Given the description of an element on the screen output the (x, y) to click on. 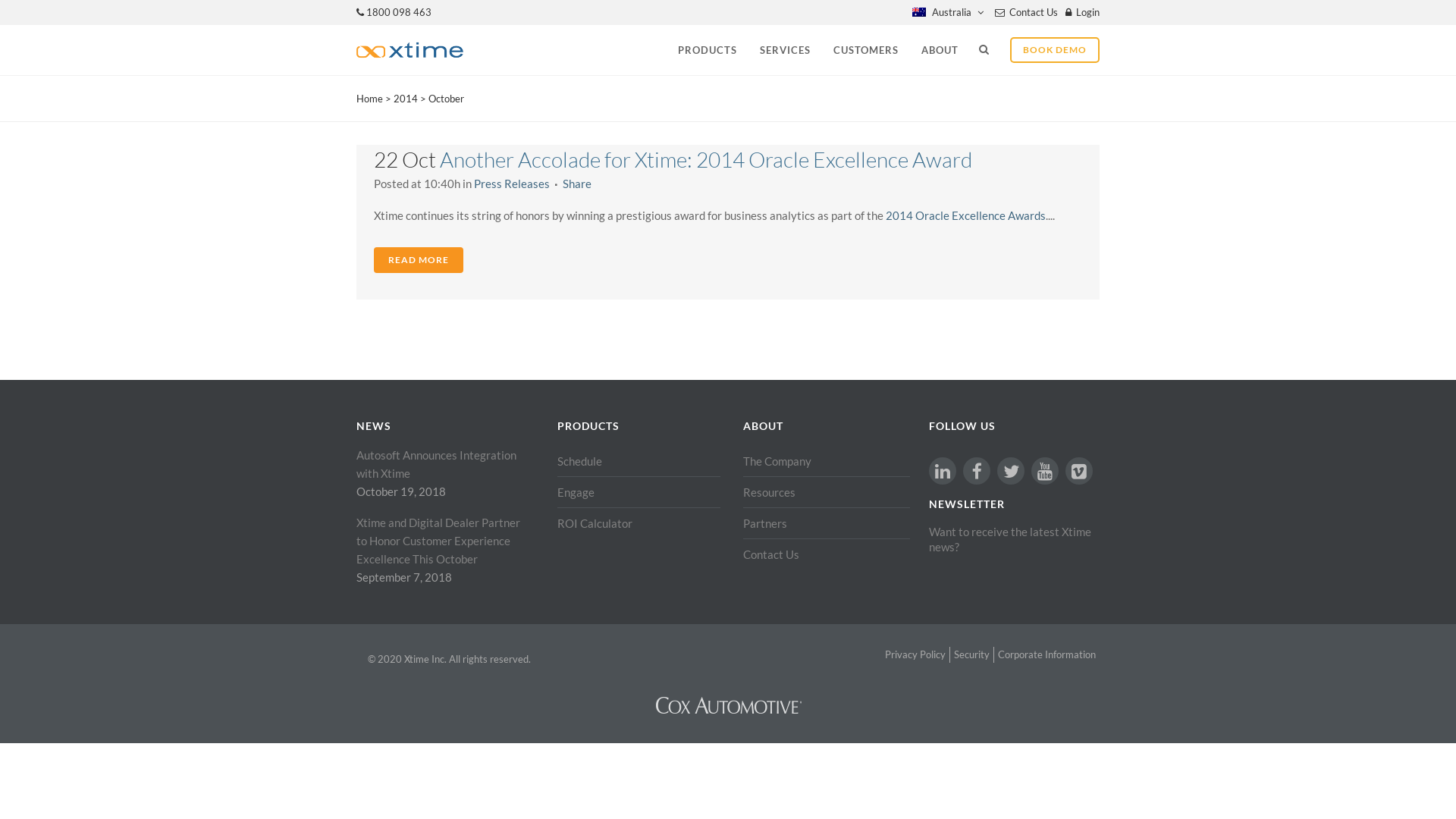
Resources Element type: text (826, 491)
Another Accolade for Xtime: 2014 Oracle Excellence Award Element type: text (705, 159)
2014 Element type: text (405, 98)
Contact Us Element type: text (1030, 12)
2014 Oracle Excellence Awards Element type: text (965, 215)
 Australia Element type: text (941, 12)
Schedule Element type: text (638, 460)
Privacy Policy Element type: text (915, 654)
The Company Element type: text (826, 460)
ROI Calculator Element type: text (638, 523)
READ MORE Element type: text (418, 260)
SERVICES Element type: text (785, 50)
Autosoft Announces Integration with Xtime Element type: text (443, 463)
Corporate Information Element type: text (1046, 654)
Security Element type: text (971, 654)
CUSTOMERS Element type: text (866, 50)
ABOUT Element type: text (939, 50)
Press Releases Element type: text (511, 183)
Partners Element type: text (826, 523)
Home Element type: text (369, 98)
BOOK DEMO Element type: text (1054, 49)
Engage Element type: text (638, 491)
Login Element type: text (1085, 12)
English Element type: hover (918, 11)
PRODUCTS Element type: text (707, 50)
Share Element type: text (576, 183)
Contact Us Element type: text (826, 554)
